Given the description of an element on the screen output the (x, y) to click on. 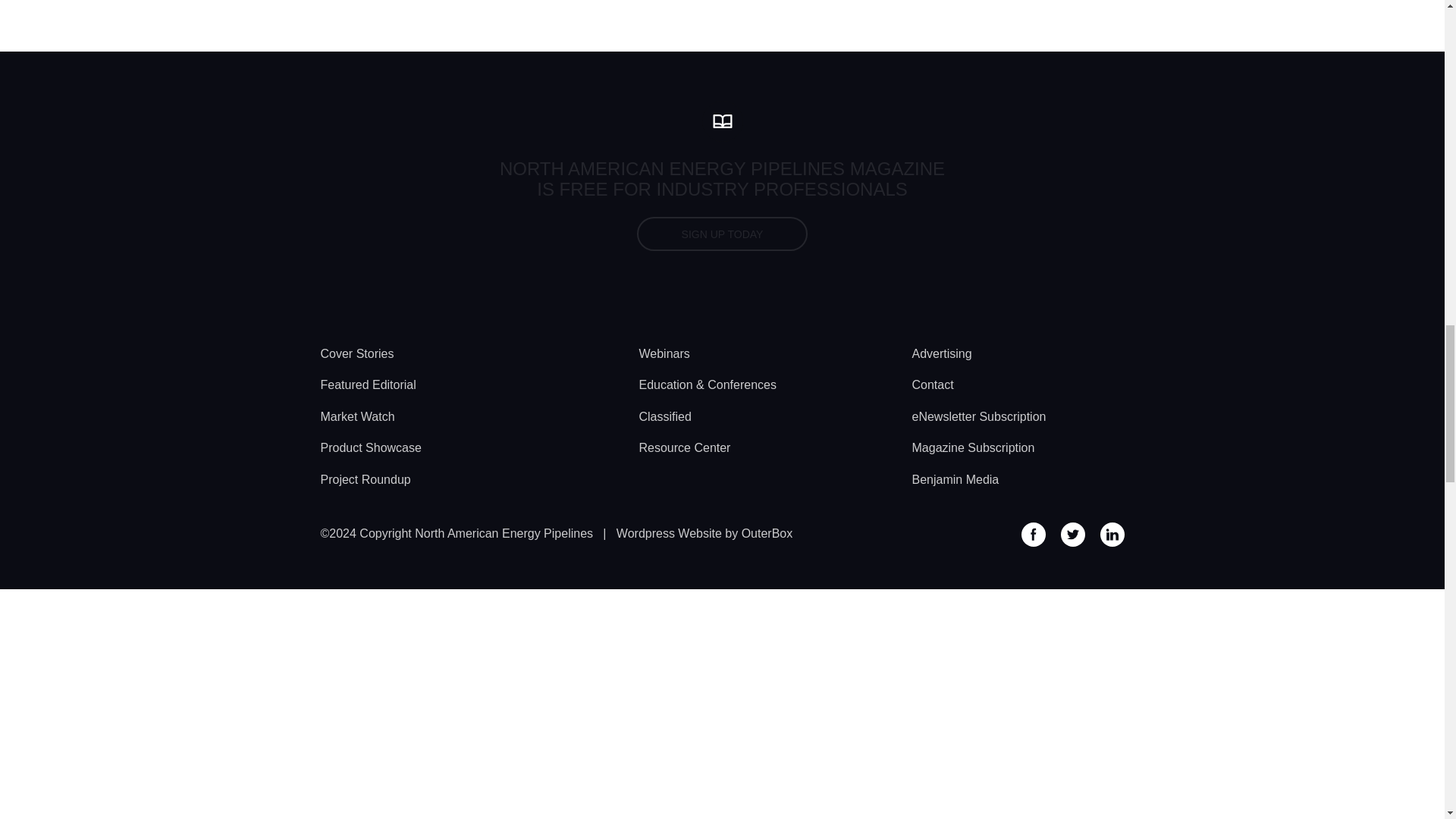
Cover Stories (356, 353)
Outerbox (703, 533)
Featured Editorial (367, 384)
SIGN UP TODAY (722, 233)
